Given the description of an element on the screen output the (x, y) to click on. 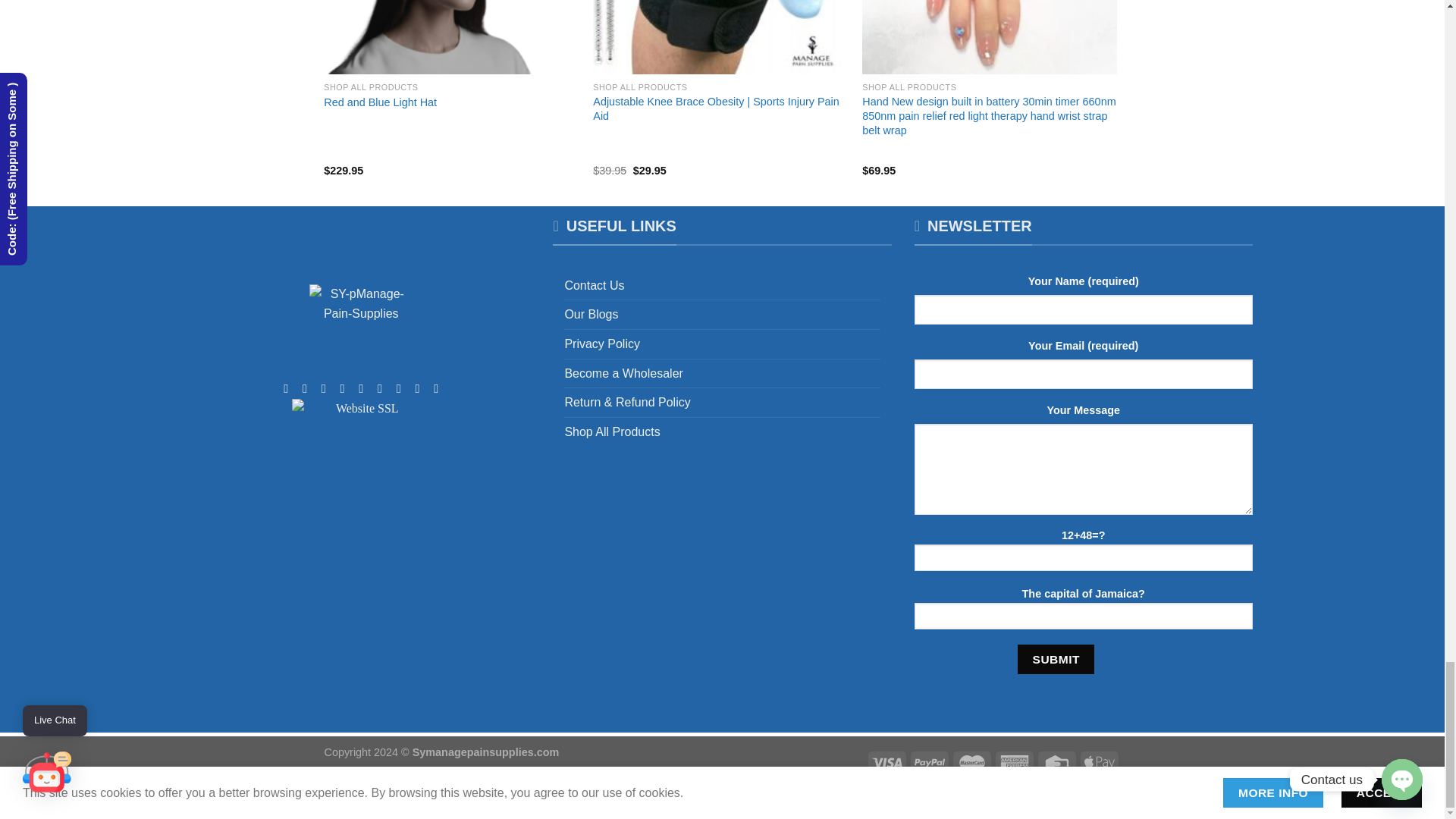
Submit (1055, 659)
